Given the description of an element on the screen output the (x, y) to click on. 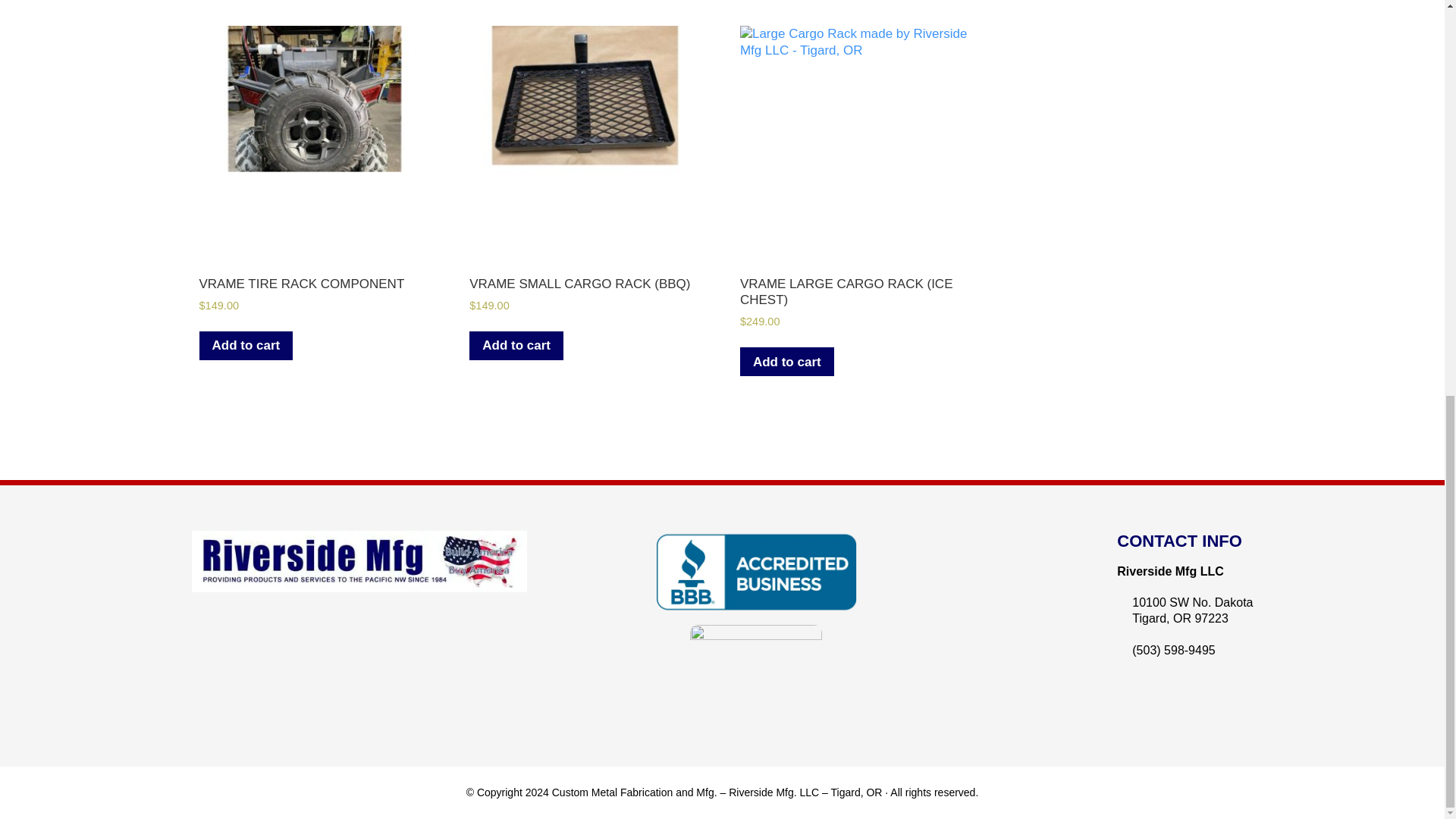
Follow on Twitter (213, 641)
Add to cart (515, 345)
Like on Facebook (198, 641)
Add to cart (786, 361)
Leave Us A Review On Google (756, 673)
Riverside Mfg LLC (1169, 571)
Add to cart (245, 345)
